Given the description of an element on the screen output the (x, y) to click on. 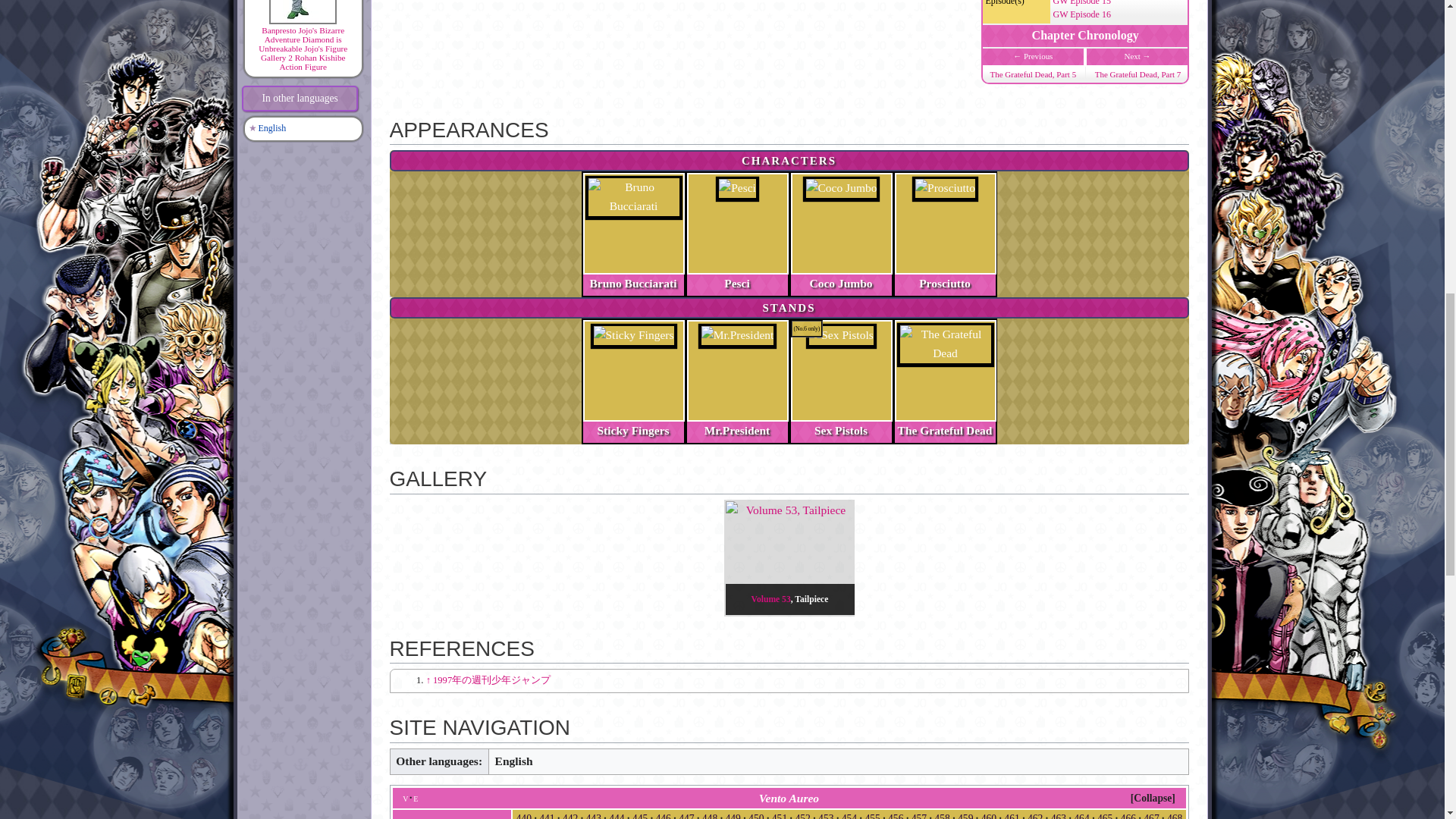
GW Episode 16 (1080, 14)
GW Episode 15 (1080, 2)
The Grateful Dead, Part 7 (1137, 73)
Chapter 492 (1033, 73)
GW Episode 15 (1080, 2)
GW Episode 16 (1080, 14)
The Grateful Dead, Part 5 (1033, 73)
Pesci (736, 282)
Chapter 494 (1137, 73)
Bruno Bucciarati (633, 282)
